Given the description of an element on the screen output the (x, y) to click on. 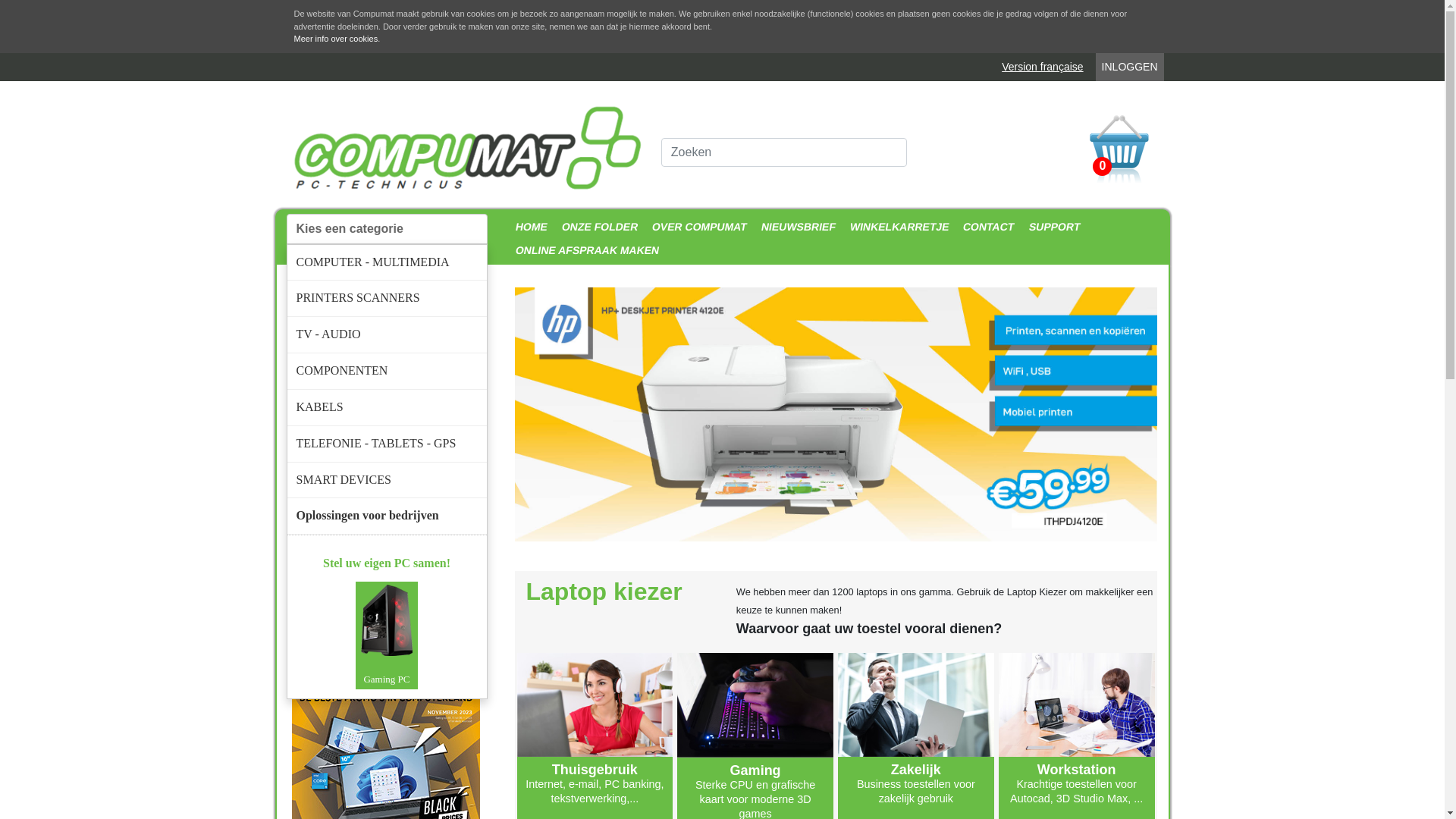
TV - AUDIO Element type: text (386, 334)
KABELS Element type: text (386, 407)
Oplossingen voor bedrijven Element type: text (386, 515)
Gaming PC Element type: text (386, 634)
CONTACT Element type: text (986, 226)
ONZE FOLDER Element type: text (597, 226)
HOME Element type: text (529, 226)
Meer info over cookies Element type: text (336, 38)
COMPUTER - MULTIMEDIA Element type: text (386, 262)
OVER COMPUMAT Element type: text (696, 226)
ONLINE AFSPRAAK MAKEN Element type: text (585, 250)
PRINTERS SCANNERS Element type: text (386, 298)
SUPPORT Element type: text (1052, 226)
COMPONENTEN Element type: text (386, 371)
Kies een categorie Element type: text (386, 228)
SMART DEVICES Element type: text (386, 480)
TELEFONIE - TABLETS - GPS Element type: text (386, 443)
WINKELKARRETJE Element type: text (897, 226)
NIEUWSBRIEF Element type: text (795, 226)
